Given the description of an element on the screen output the (x, y) to click on. 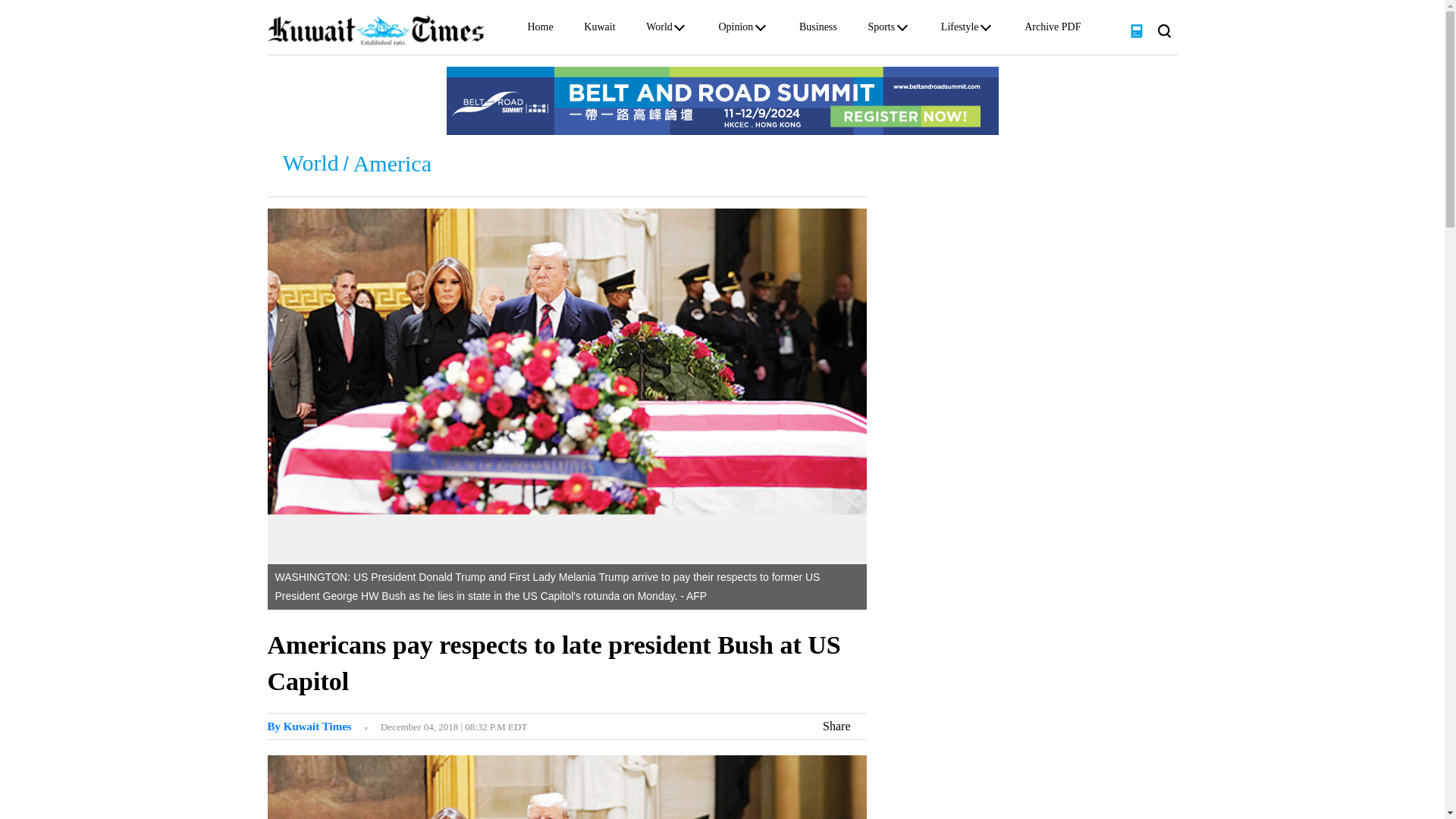
Opinion (734, 29)
kuwaittimes.com (374, 29)
talal (308, 726)
Sports (881, 29)
Business (818, 29)
Archive PDF (1052, 29)
Lifestyle (959, 29)
Banner-Ad (721, 99)
pdf (1136, 29)
Kuwait (598, 29)
